Given the description of an element on the screen output the (x, y) to click on. 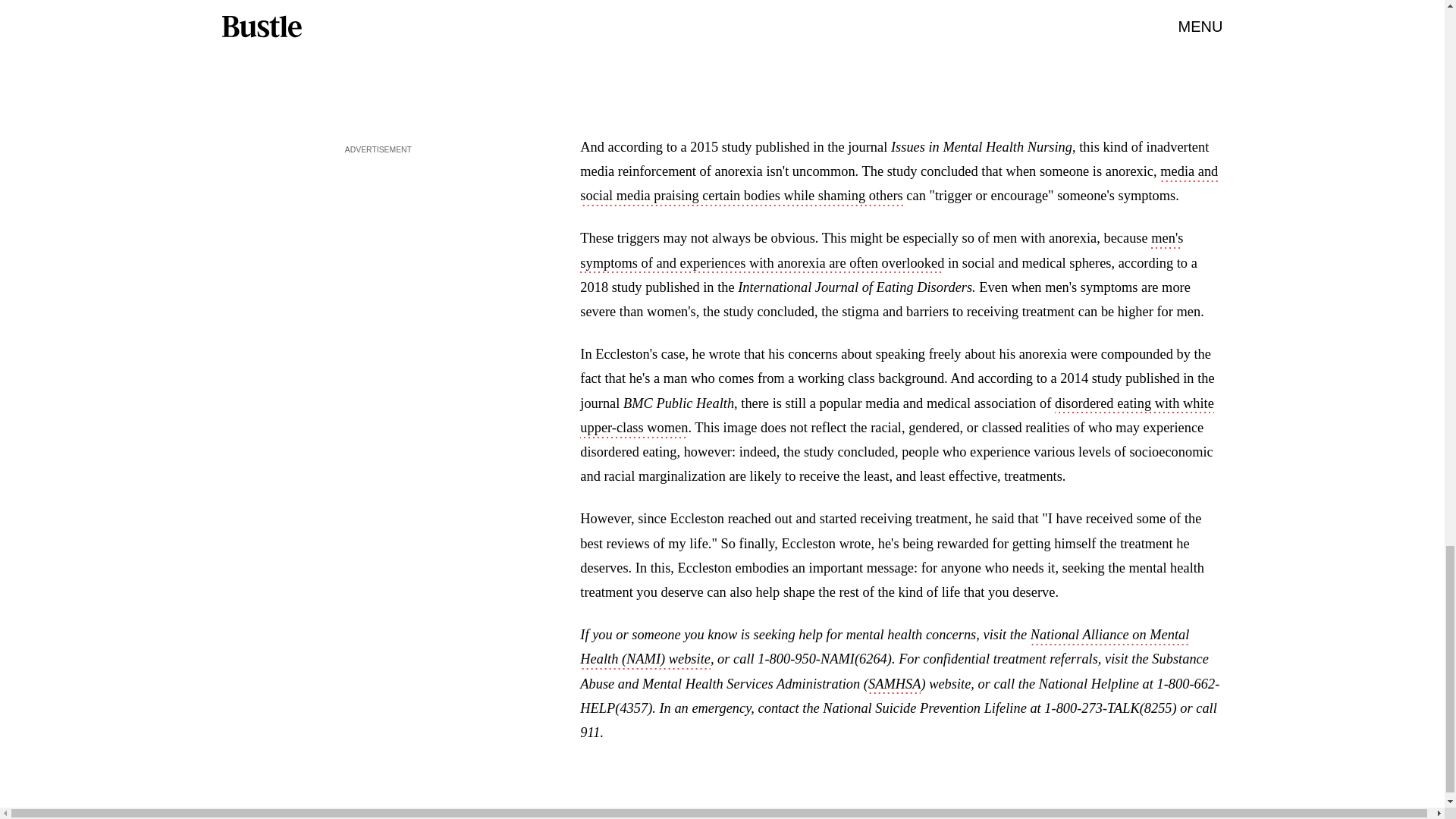
SAMHSA (893, 685)
disordered eating with white upper-class women (896, 416)
